Given the description of an element on the screen output the (x, y) to click on. 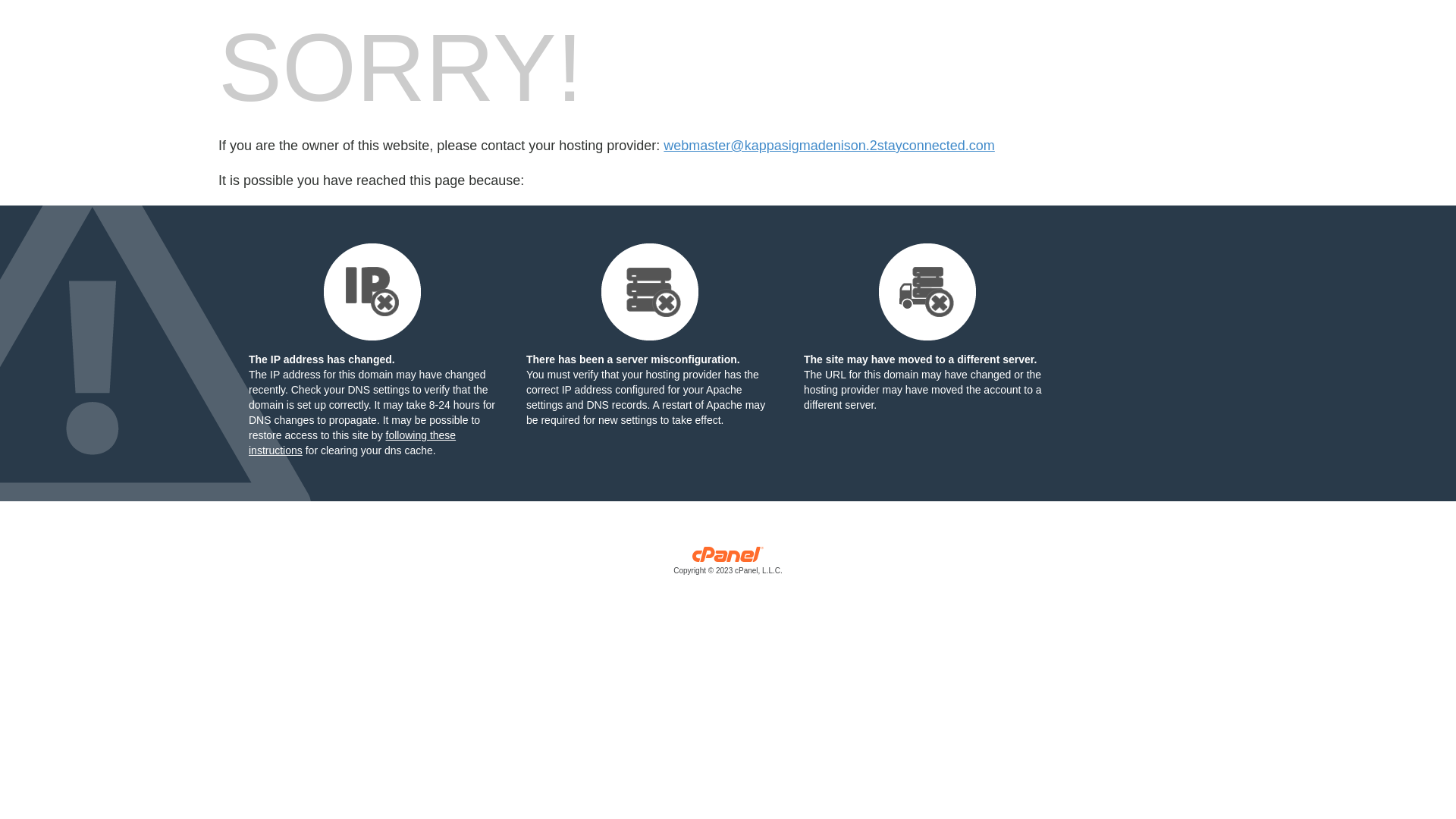
following these instructions Element type: text (351, 442)
webmaster@kappasigmadenison.2stayconnected.com Element type: text (828, 145)
